Given the description of an element on the screen output the (x, y) to click on. 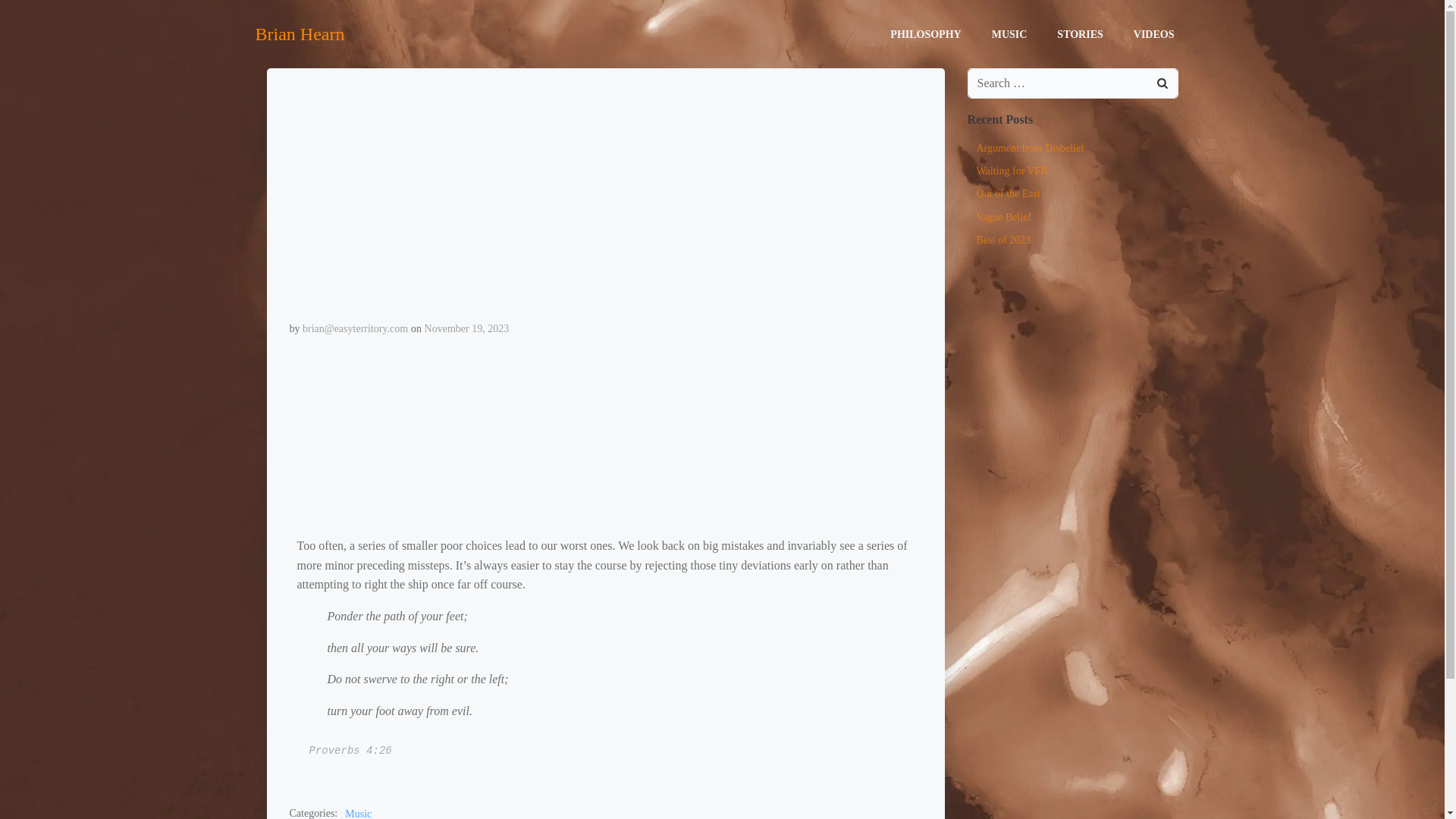
Argument from Disbelief (1030, 147)
November 19, 2023 (467, 328)
Out of the East (1008, 193)
Music (358, 812)
MUSIC (1009, 33)
Search  (29, 14)
Waiting for VFR (1012, 170)
Vague Belief (1004, 216)
VIDEOS (1154, 33)
Best of 2023 (1003, 239)
